Given the description of an element on the screen output the (x, y) to click on. 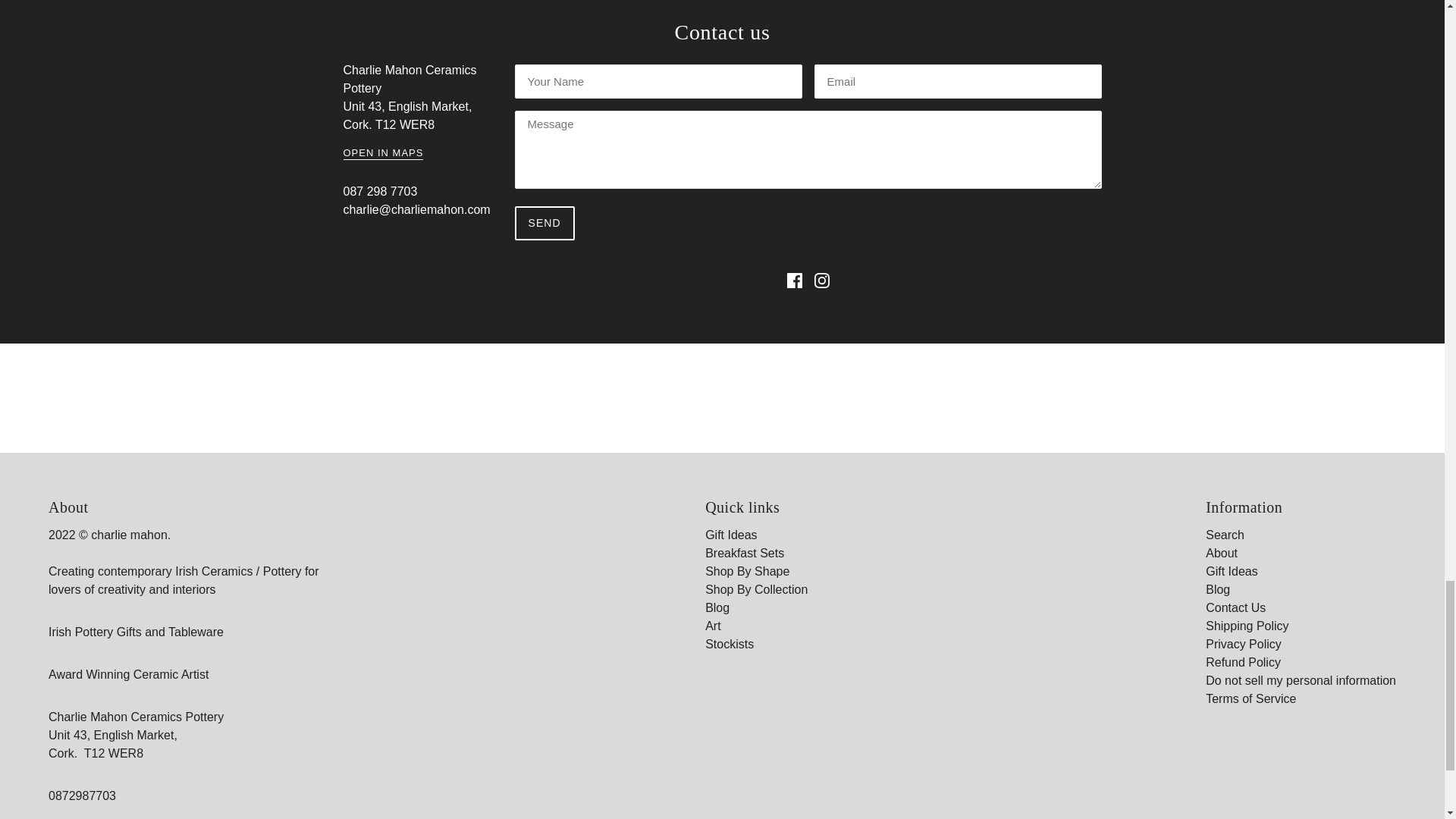
Do not sell my personal information (1300, 680)
Privacy Policy (1243, 644)
Terms of Service (1250, 698)
Blog (1217, 589)
Shop By Shape  (746, 571)
Search  (1224, 534)
Shop By Collection (756, 589)
Stockists (729, 644)
Gift Ideas (1231, 571)
About (1221, 553)
Blog (716, 607)
Contact Us (1235, 607)
Shipping Policy (1246, 625)
Refund Policy (1243, 662)
Art (712, 625)
